Given the description of an element on the screen output the (x, y) to click on. 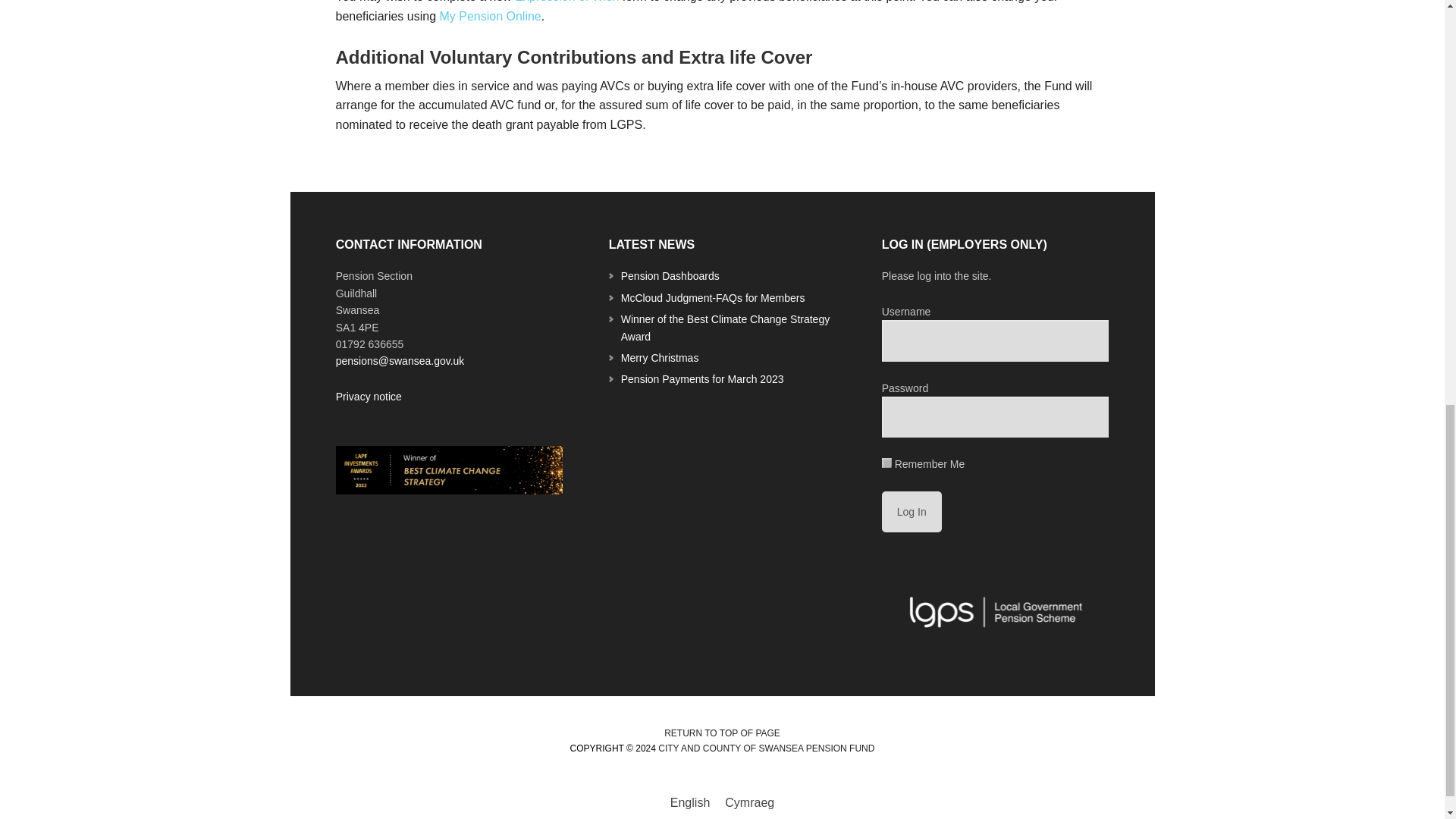
Log In (912, 511)
forever (886, 462)
City and County of Swansea Pension Fund (766, 747)
